Given the description of an element on the screen output the (x, y) to click on. 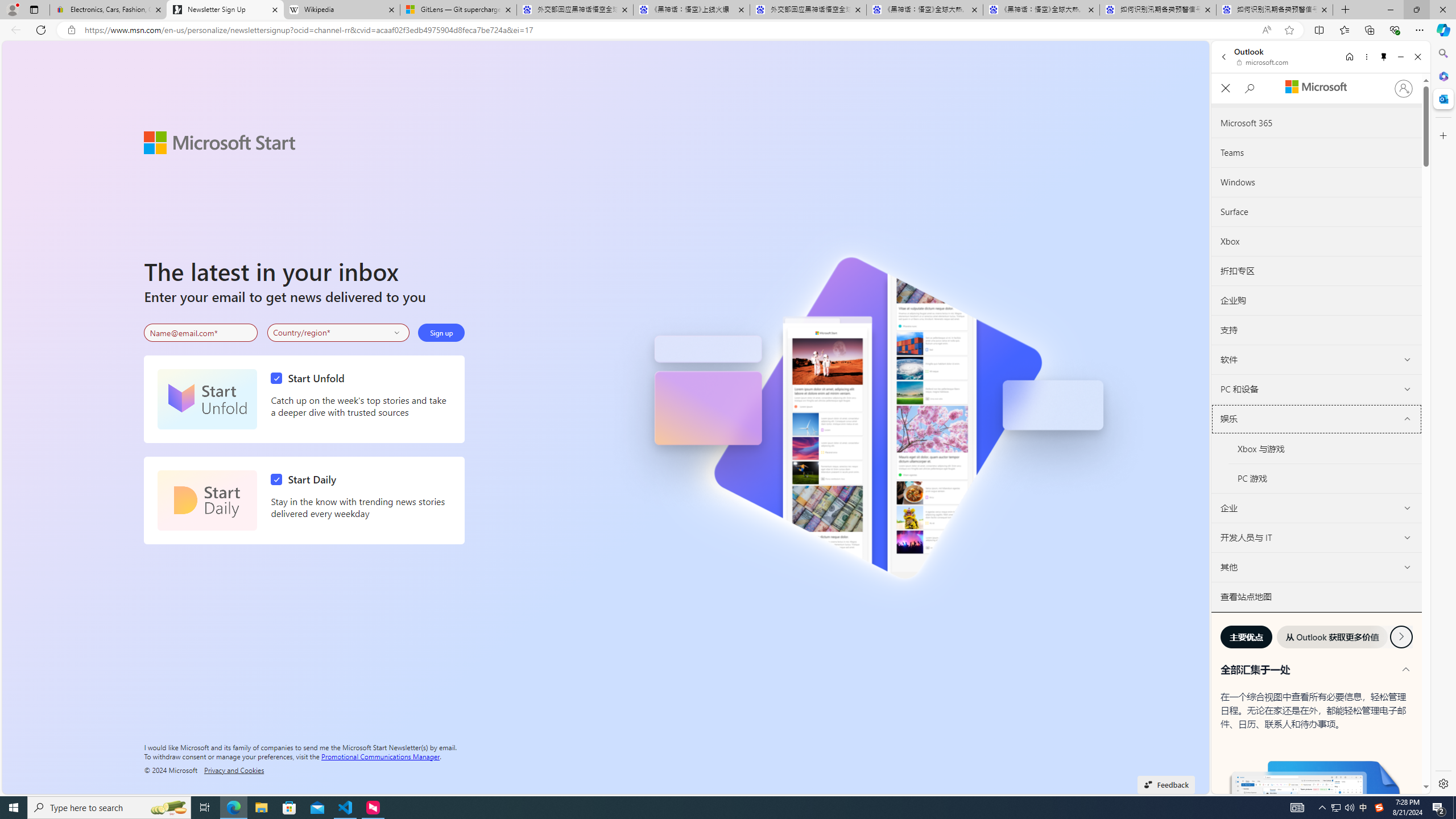
Start Daily (306, 479)
Windows (1316, 182)
Teams (1316, 152)
